Given the description of an element on the screen output the (x, y) to click on. 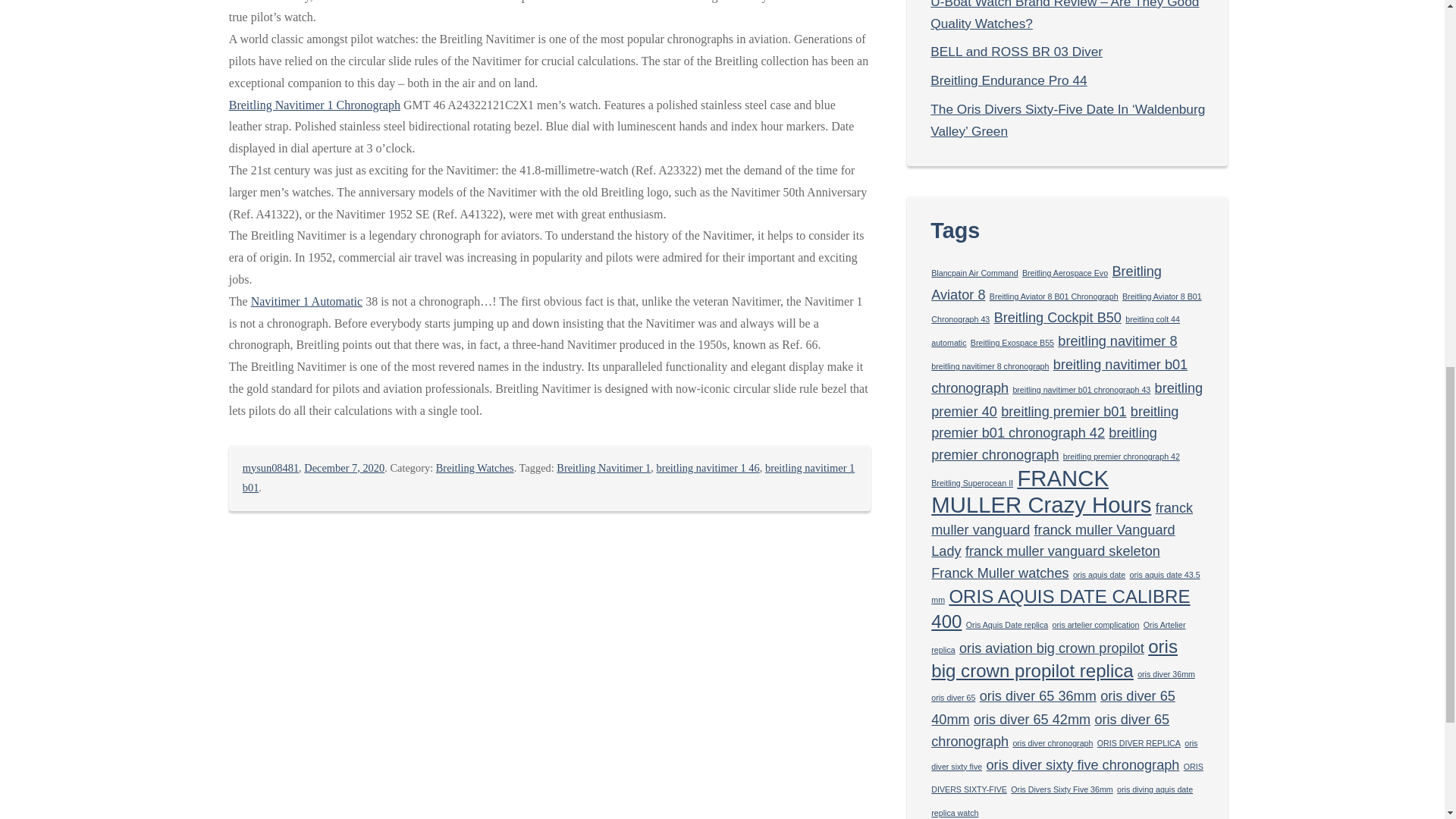
Breitling Aerospace Evo (1065, 272)
Breitling Aviator 8 B01 Chronograph 43 (1066, 307)
View all posts by mysun08481 (270, 467)
breitling navitimer 1 b01 (549, 477)
Blancpain Air Command (974, 272)
Breitling Navitimer 1 (603, 467)
mysun08481 (270, 467)
Breitling Aviator 8 (1046, 282)
Breitling Exospace B55 (1012, 342)
breitling navitimer 1 46 (707, 467)
